Given the description of an element on the screen output the (x, y) to click on. 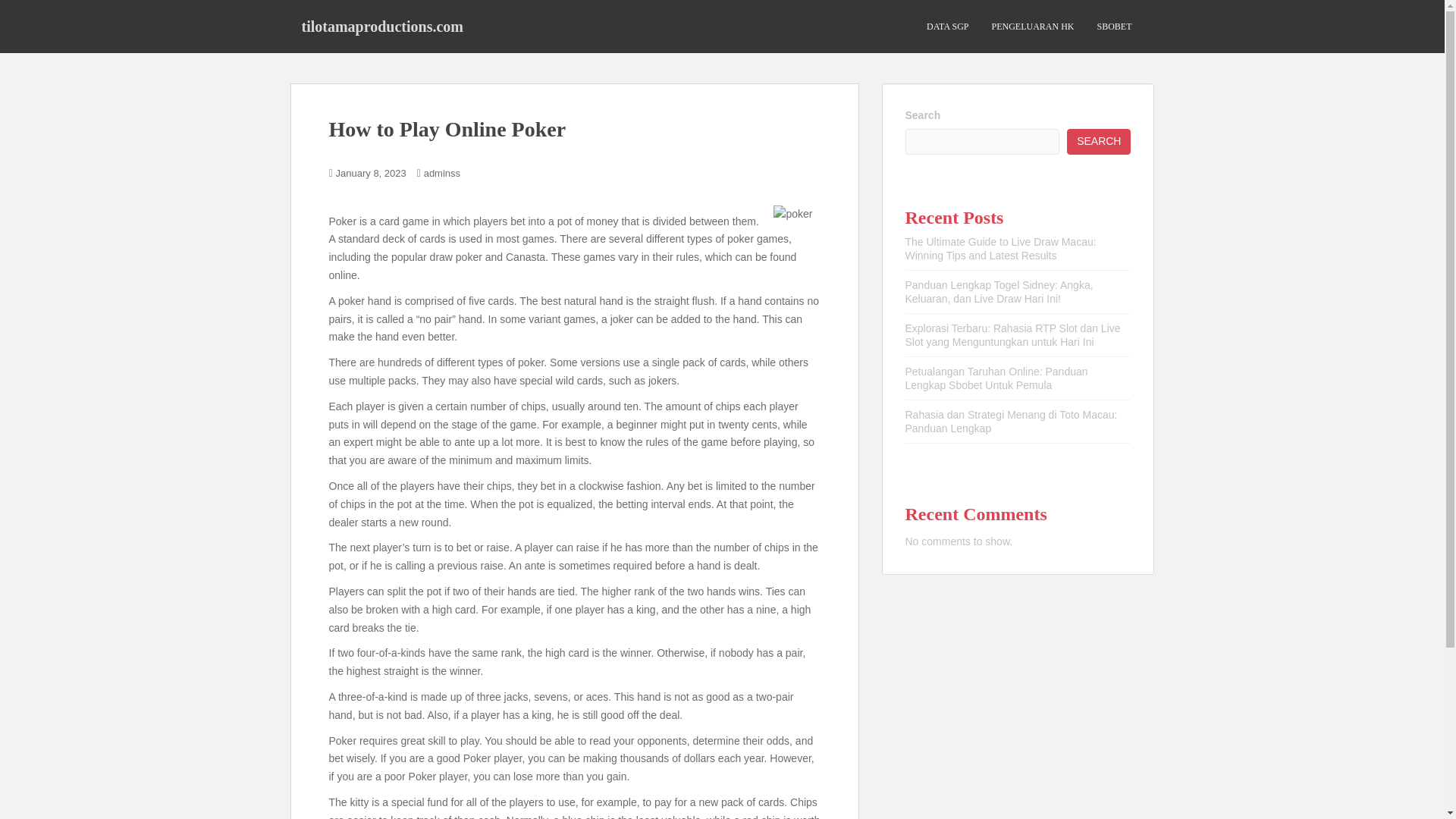
PENGELUARAN HK (1032, 26)
tilotamaproductions.com (381, 26)
adminss (441, 173)
January 8, 2023 (371, 173)
Rahasia dan Strategi Menang di Toto Macau: Panduan Lengkap (1011, 421)
SEARCH (1099, 141)
SBOBET (1113, 26)
